Given the description of an element on the screen output the (x, y) to click on. 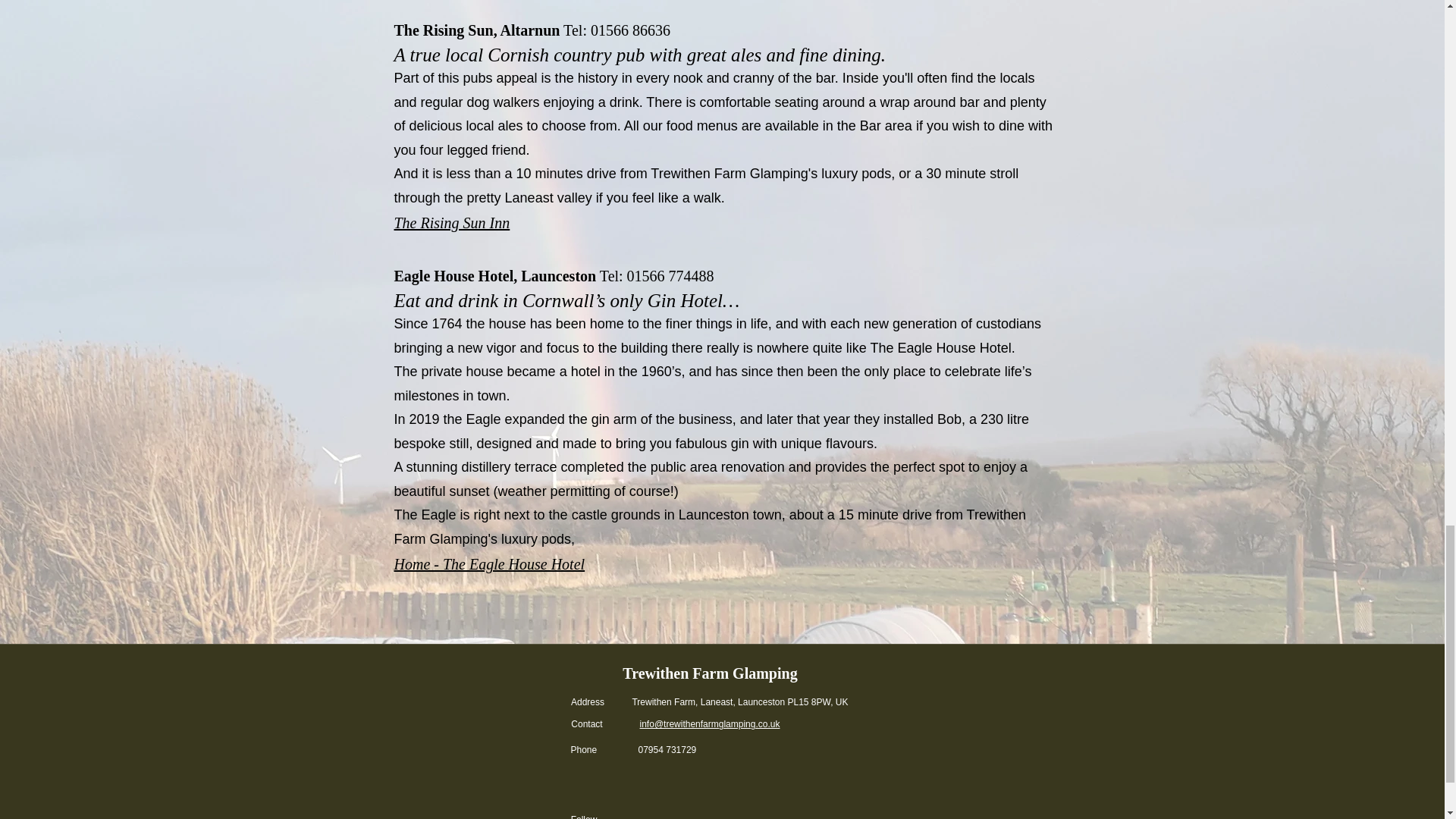
07954 731729 (668, 749)
The Rising Sun Inn (452, 222)
Home - The Eagle House Hotel (489, 564)
